Given the description of an element on the screen output the (x, y) to click on. 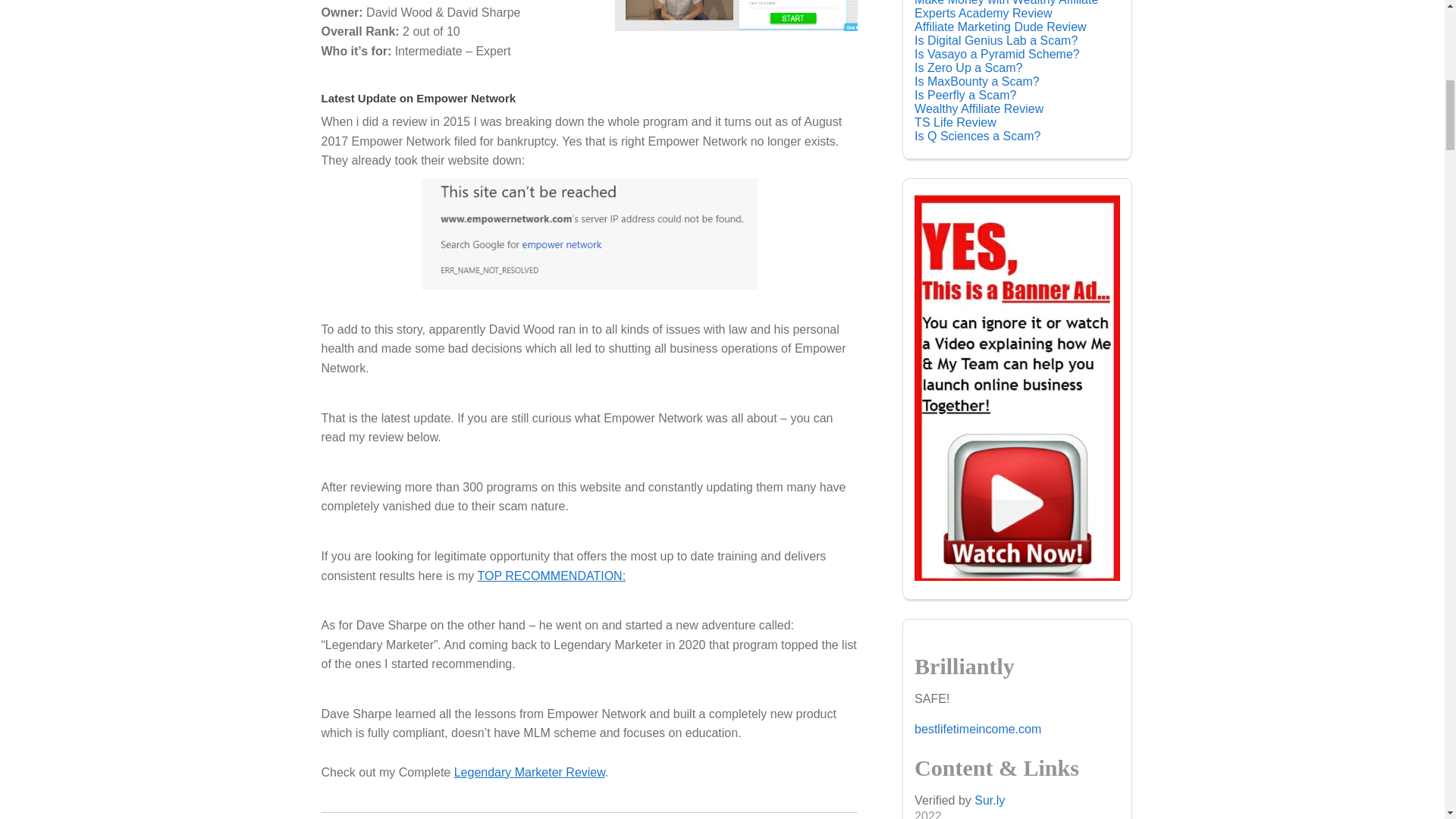
Legendary Marketer Review (529, 771)
TOP RECOMMENDATION: (551, 575)
